Given the description of an element on the screen output the (x, y) to click on. 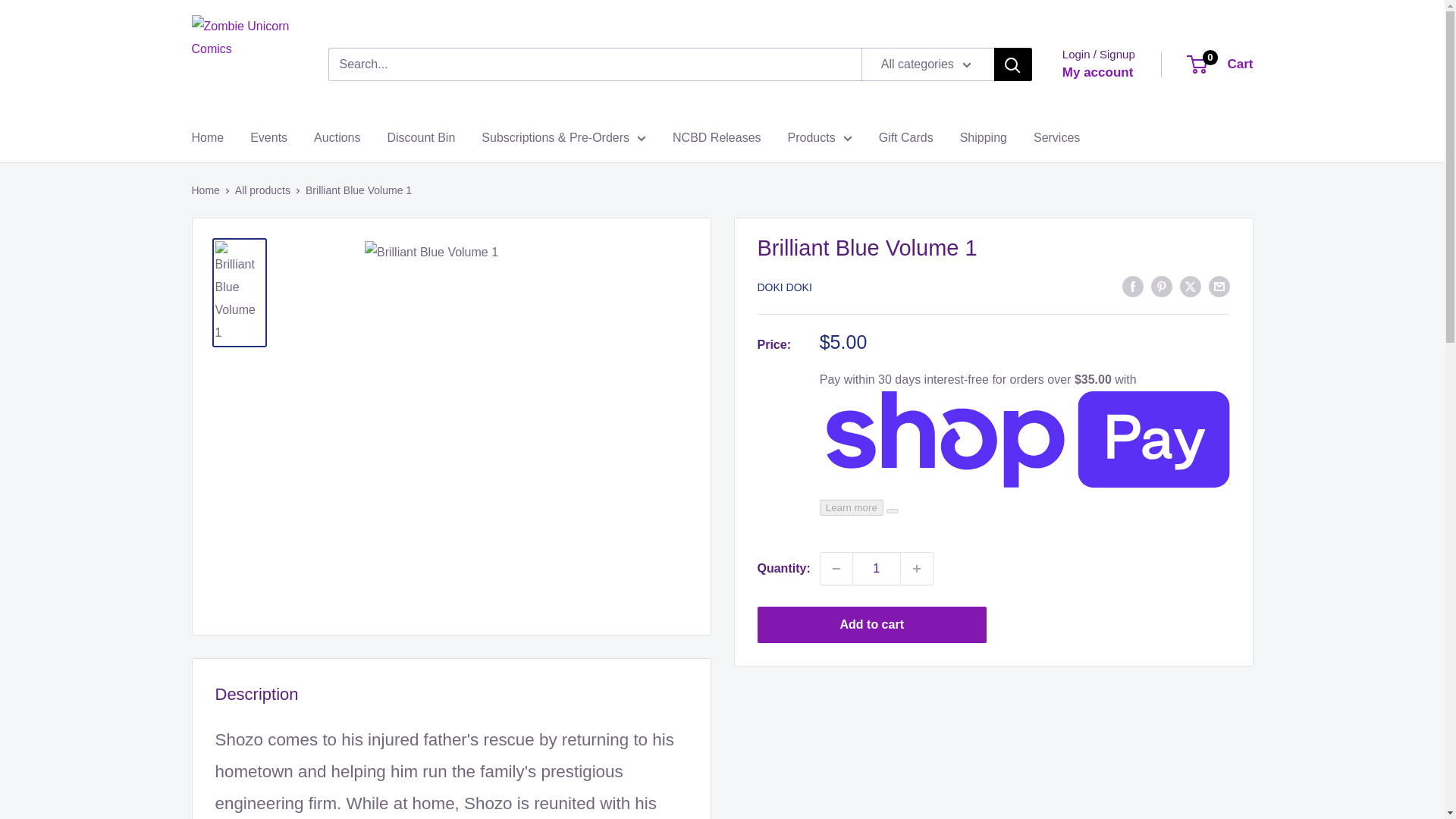
Zombie Unicorn Comics (1220, 64)
1 (243, 64)
Events (876, 568)
My account (268, 137)
Discount Bin (1098, 72)
Auctions (420, 137)
Home (336, 137)
Decrease quantity by 1 (207, 137)
Increase quantity by 1 (836, 568)
